Given the description of an element on the screen output the (x, y) to click on. 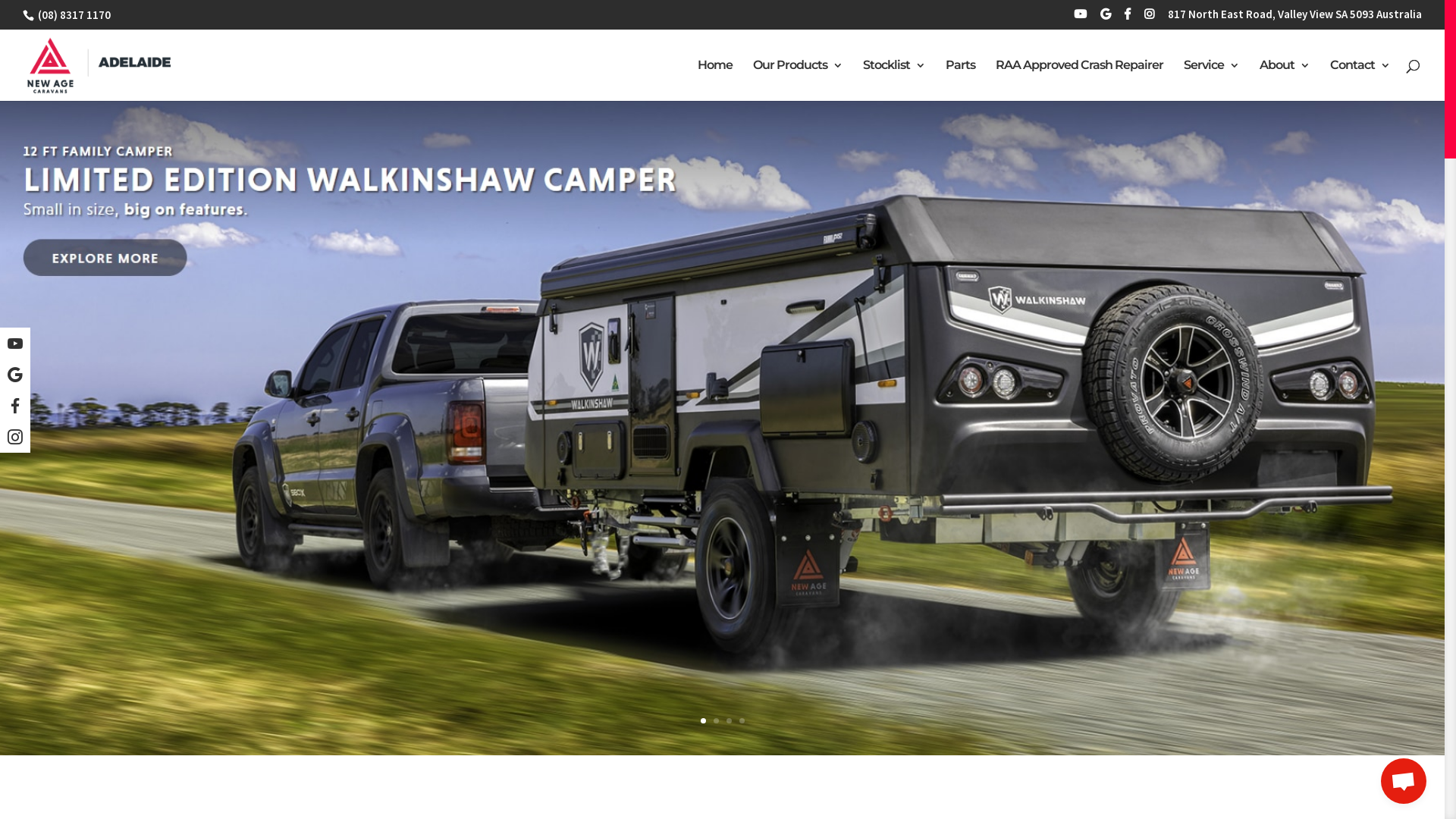
Contact Element type: text (1360, 79)
Stocklist Element type: text (893, 79)
About Element type: text (1284, 79)
Service Element type: text (1211, 79)
3 Element type: text (728, 720)
817 North East Road, Valley View SA 5093 Australia Element type: text (1294, 18)
1 Element type: text (703, 720)
Our Products Element type: text (797, 79)
(08) 8317 1170 Element type: text (72, 14)
Home Element type: text (714, 79)
2 Element type: text (715, 720)
RAA Approved Crash Repairer Element type: text (1079, 79)
4 Element type: text (740, 720)
Parts Element type: text (960, 79)
